Given the description of an element on the screen output the (x, y) to click on. 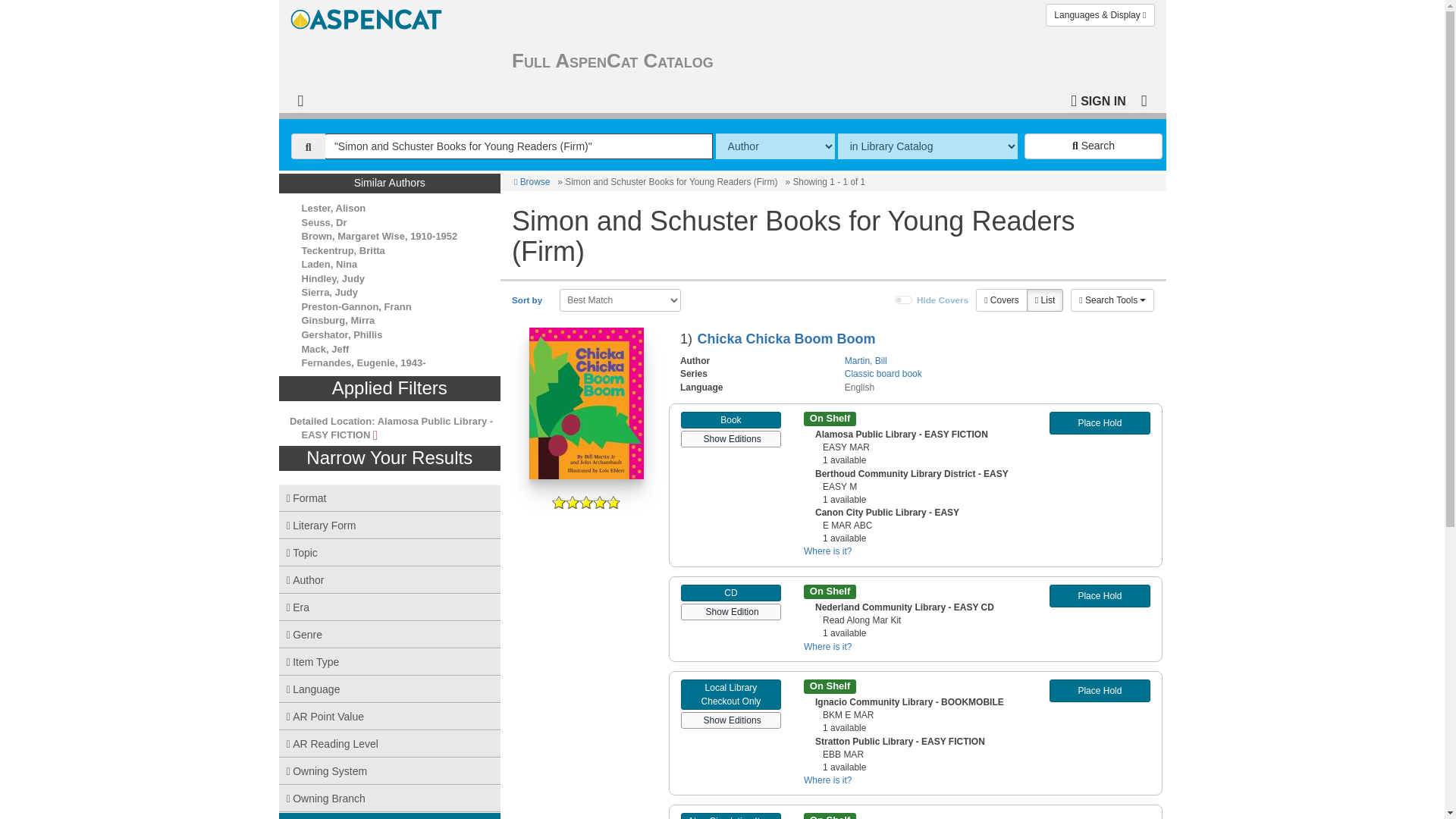
Gershator, Phillis (341, 334)
 Search (1093, 145)
Return to Catalog Home (368, 15)
Hindley, Judy (333, 278)
Sierra, Judy (329, 292)
Teckentrup, Britta (343, 250)
on (903, 299)
Fernandes, Eugenie, 1943- (363, 362)
SIGN IN (1098, 99)
Brown, Margaret Wise, 1910-1952 (379, 235)
Laden, Nina (329, 264)
Ginsburg, Mirra (338, 319)
Seuss, Dr (324, 222)
The method of searching. (775, 145)
